Given the description of an element on the screen output the (x, y) to click on. 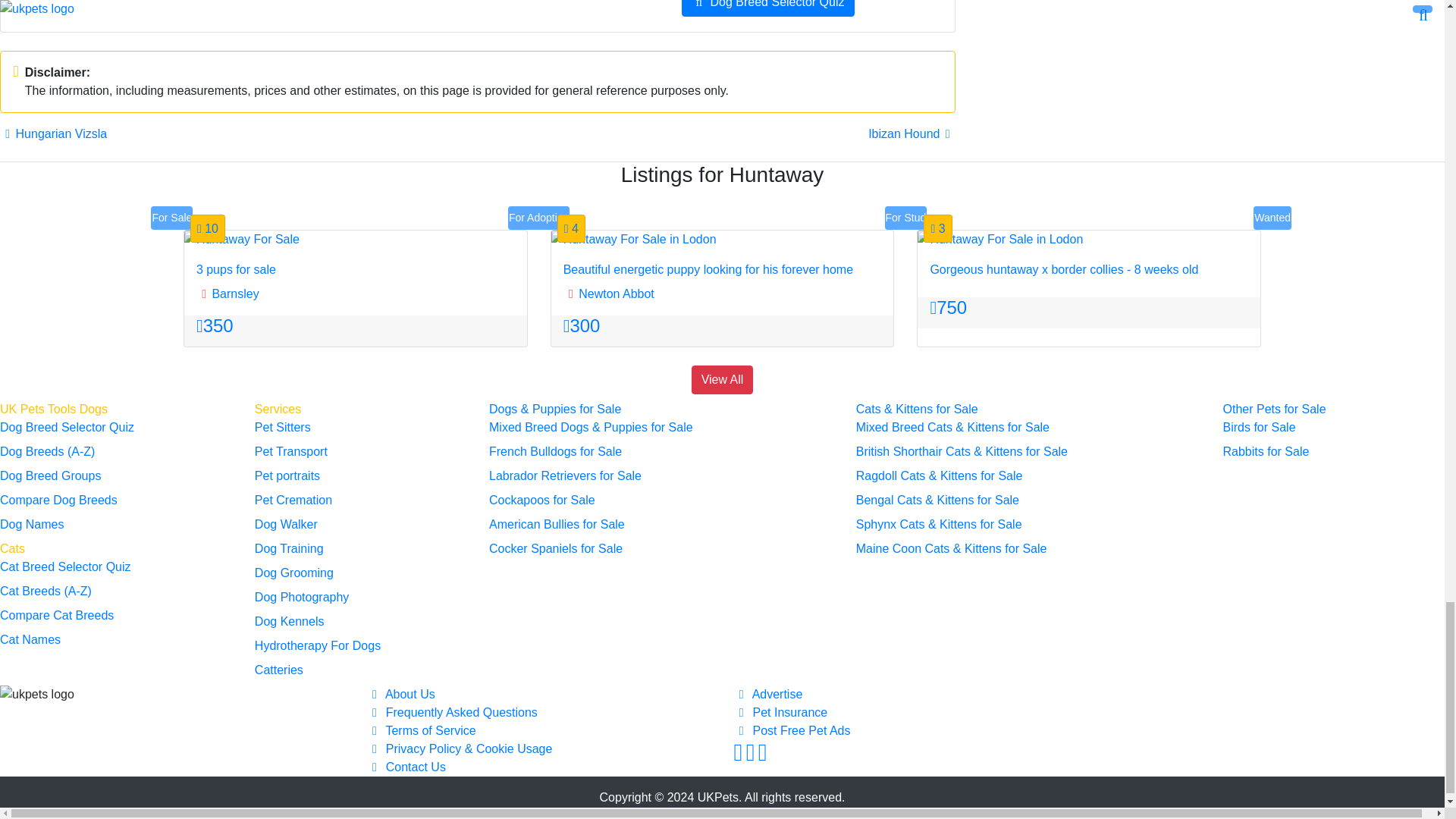
Beautiful energetic puppy looking for his forever home (633, 239)
3 pups for sale (241, 239)
Gorgeous huntaway x border collies - 8 weeks old (1000, 239)
